Given the description of an element on the screen output the (x, y) to click on. 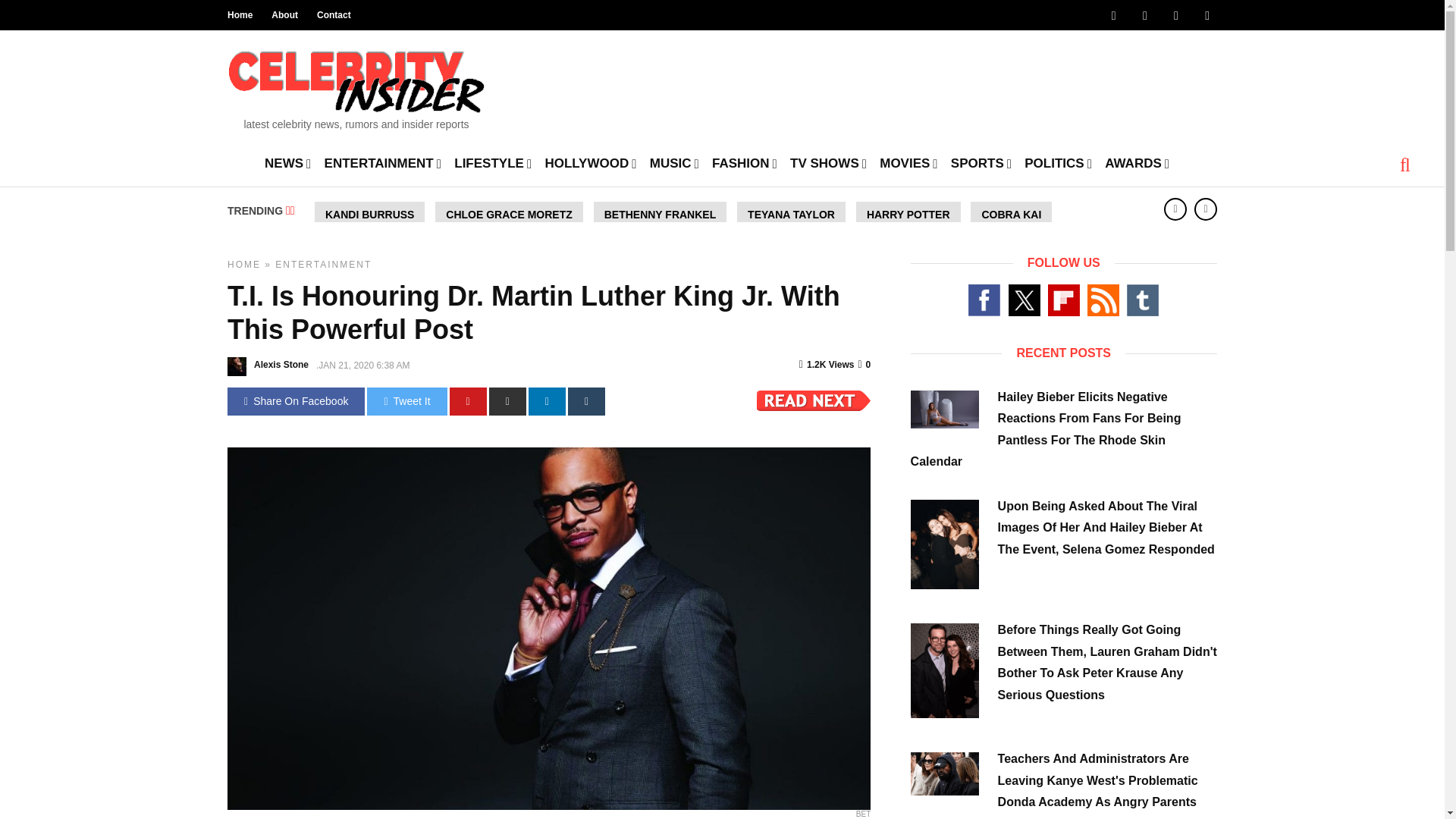
Home (239, 14)
Youtube (1175, 15)
About (284, 14)
Tumblr (1207, 15)
Contact (333, 14)
NEWS (287, 162)
ENTERTAINMENT (382, 162)
latest celebrity news, rumors and insider reports (355, 84)
